Given the description of an element on the screen output the (x, y) to click on. 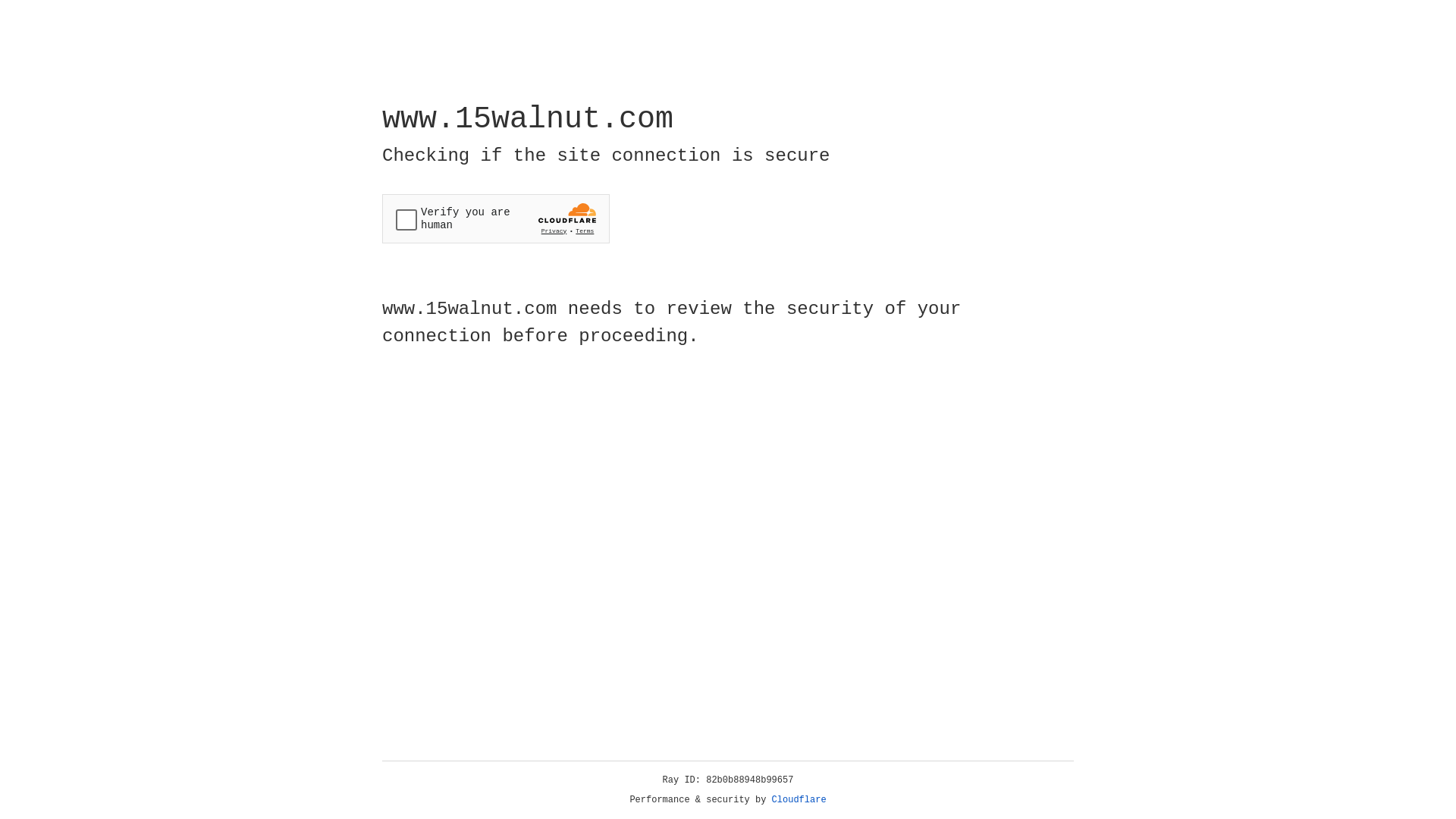
Widget containing a Cloudflare security challenge Element type: hover (495, 218)
Cloudflare Element type: text (798, 799)
